Given the description of an element on the screen output the (x, y) to click on. 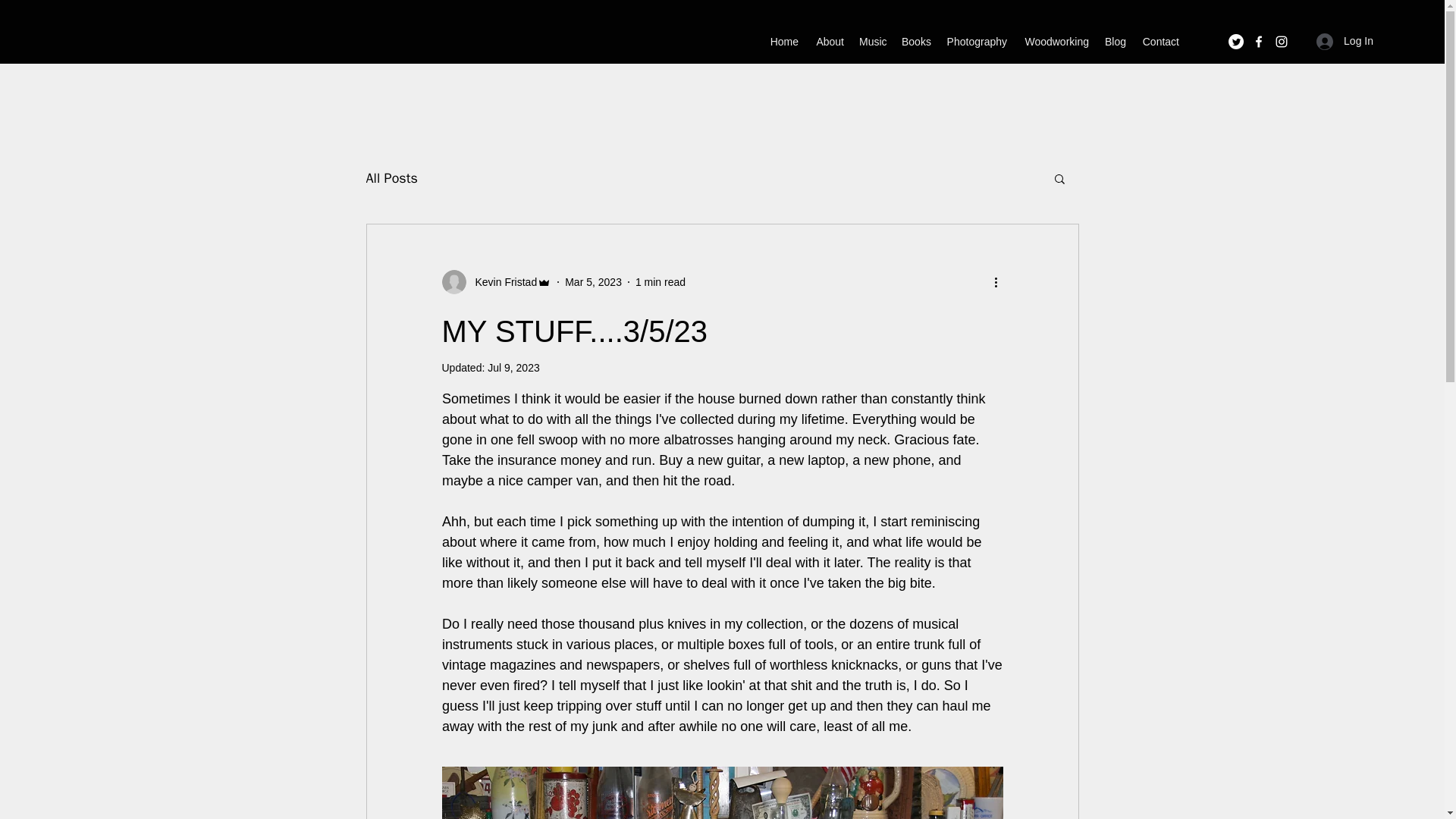
Kevin Fristad (496, 282)
Photography (975, 41)
All Posts (390, 177)
Music (872, 41)
Contact (1160, 41)
Jul 9, 2023 (513, 367)
Books (915, 41)
Kevin Fristad (501, 282)
Mar 5, 2023 (592, 282)
Woodworking (1055, 41)
